Given the description of an element on the screen output the (x, y) to click on. 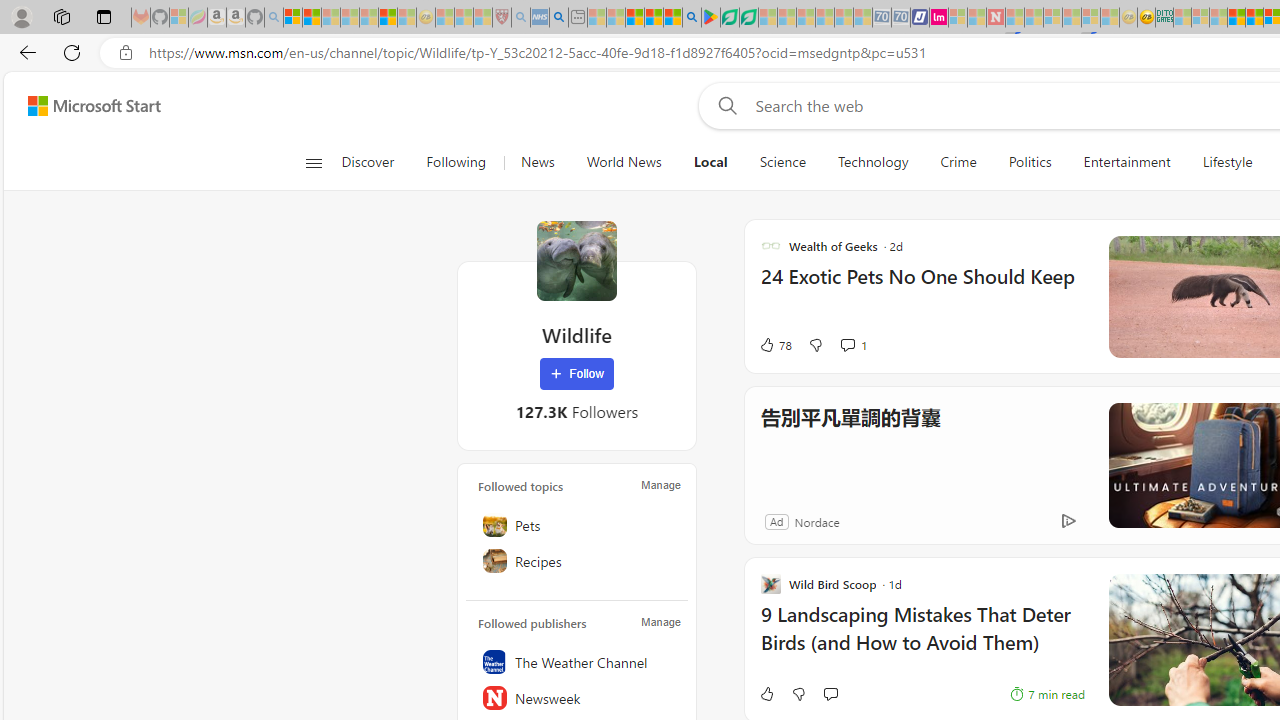
The Weather Channel (577, 661)
Jobs - lastminute.com Investor Portal (939, 17)
